Given the description of an element on the screen output the (x, y) to click on. 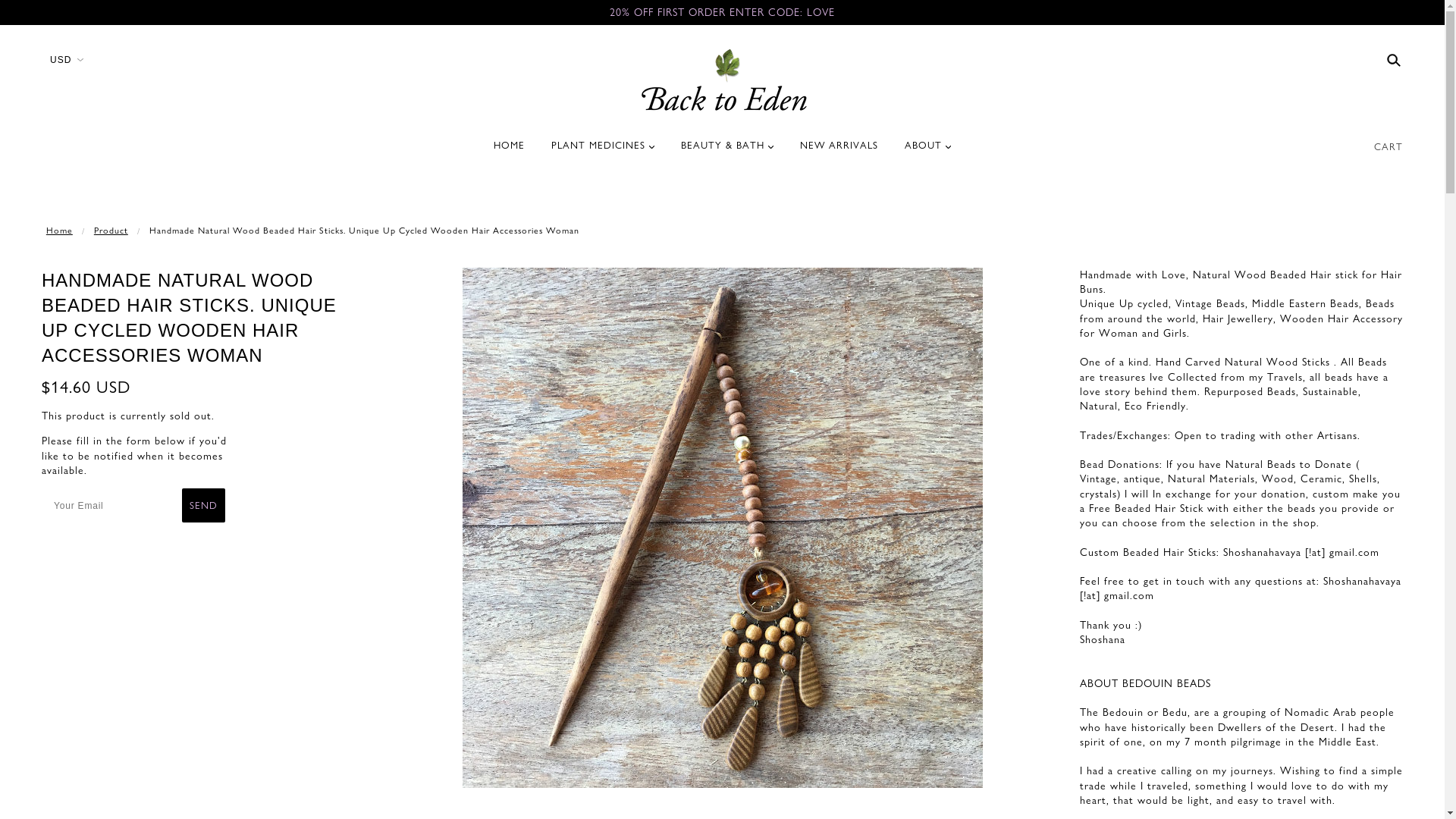
Product Element type: text (111, 230)
HOME Element type: text (509, 151)
NEW ARRIVALS Element type: text (838, 151)
Back To Eden Eco Shop  Element type: hover (722, 79)
PLANT MEDICINES Element type: text (602, 151)
ABOUT Element type: text (927, 151)
BEAUTY & BATH Element type: text (726, 151)
Send Element type: text (203, 505)
Home Element type: text (59, 230)
CART Element type: text (1388, 146)
